Given the description of an element on the screen output the (x, y) to click on. 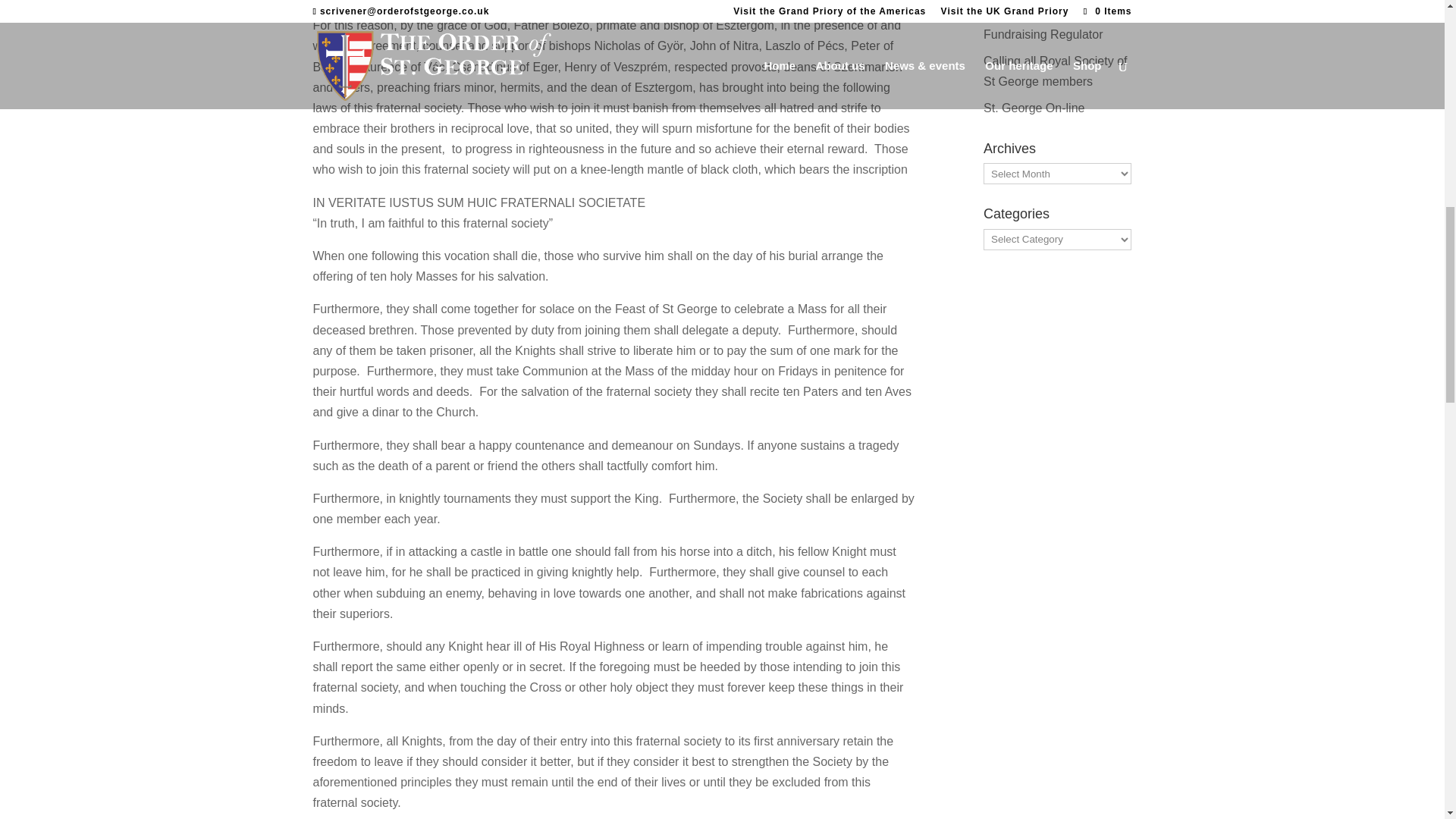
Fundraising Regulator (1043, 33)
Calling all Royal Society of St George members (1055, 70)
St. George On-line (1034, 107)
Join us for our first humanitarian response Symposium (1045, 6)
